Given the description of an element on the screen output the (x, y) to click on. 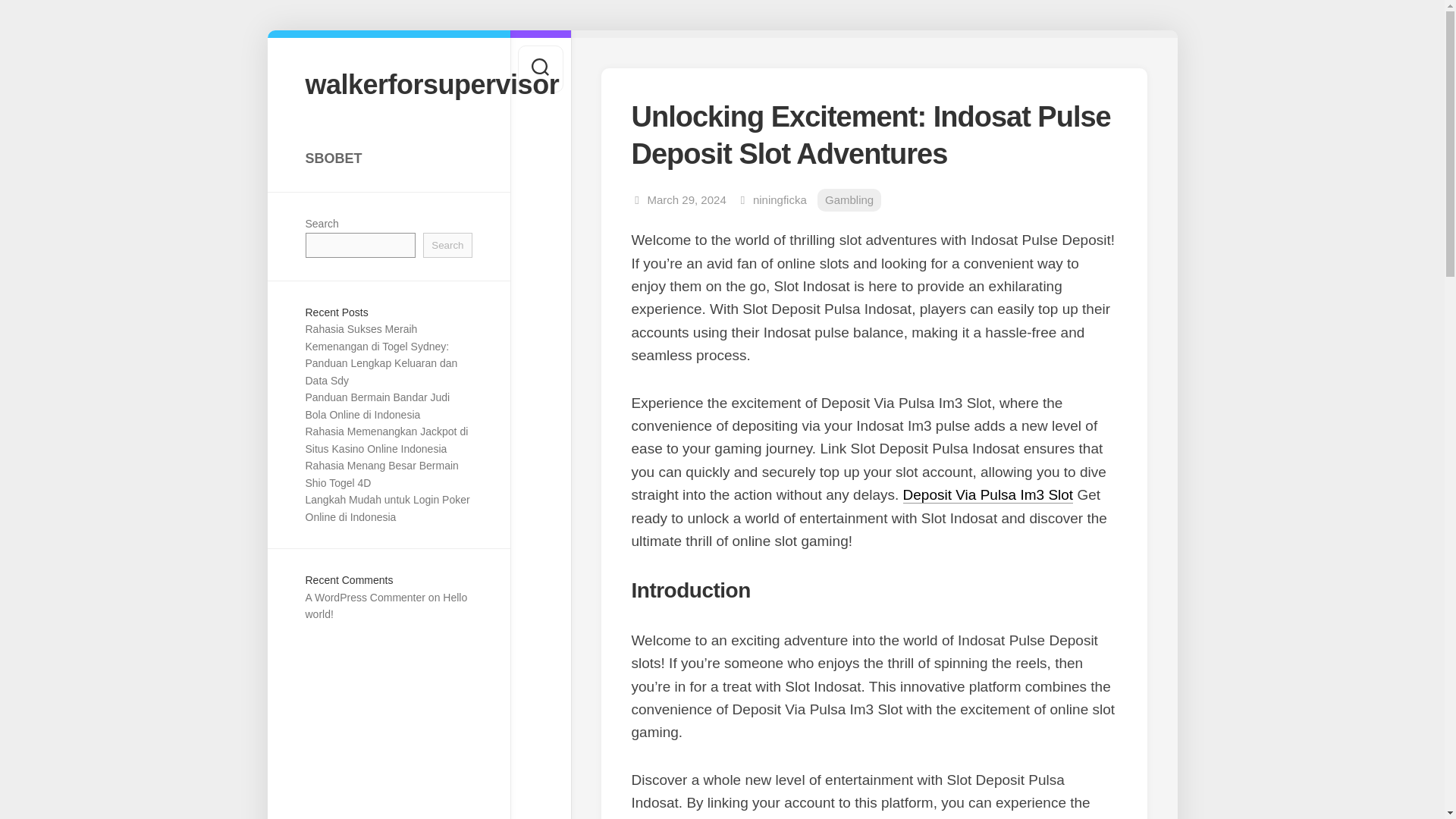
SBOBET (387, 158)
walkerforsupervisor (387, 83)
A WordPress Commenter (364, 597)
niningficka (779, 199)
Deposit Via Pulsa Im3 Slot (988, 494)
Rahasia Menang Besar Bermain Shio Togel 4D (381, 473)
Rahasia Memenangkan Jackpot di Situs Kasino Online Indonesia (385, 440)
Posts by niningficka (779, 199)
Langkah Mudah untuk Login Poker Online di Indonesia (386, 508)
Panduan Bermain Bandar Judi Bola Online di Indonesia (376, 405)
Gambling (848, 200)
Hello world! (385, 605)
Search (447, 244)
